Given the description of an element on the screen output the (x, y) to click on. 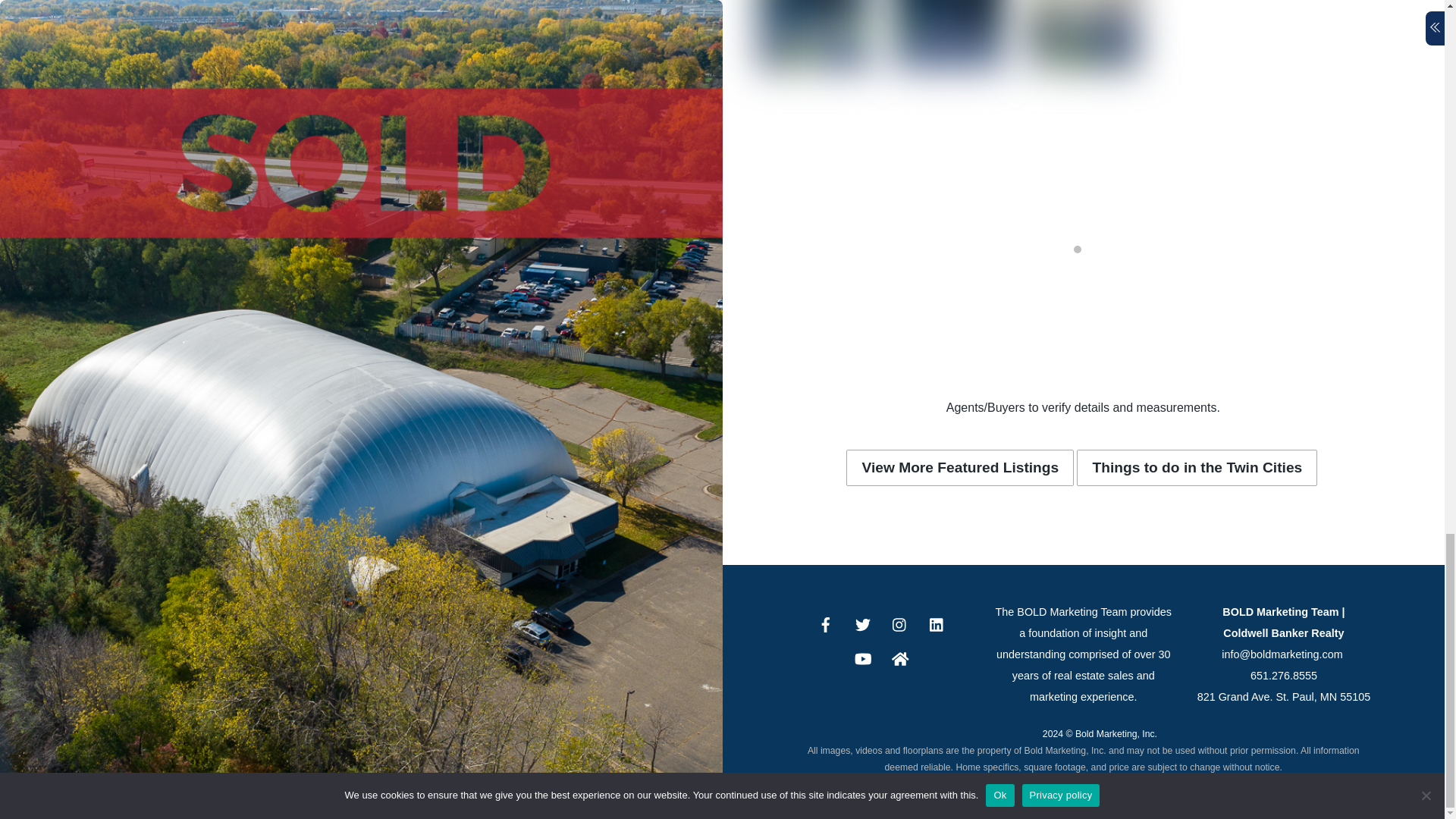
View More Featured Listings (959, 467)
